Given the description of an element on the screen output the (x, y) to click on. 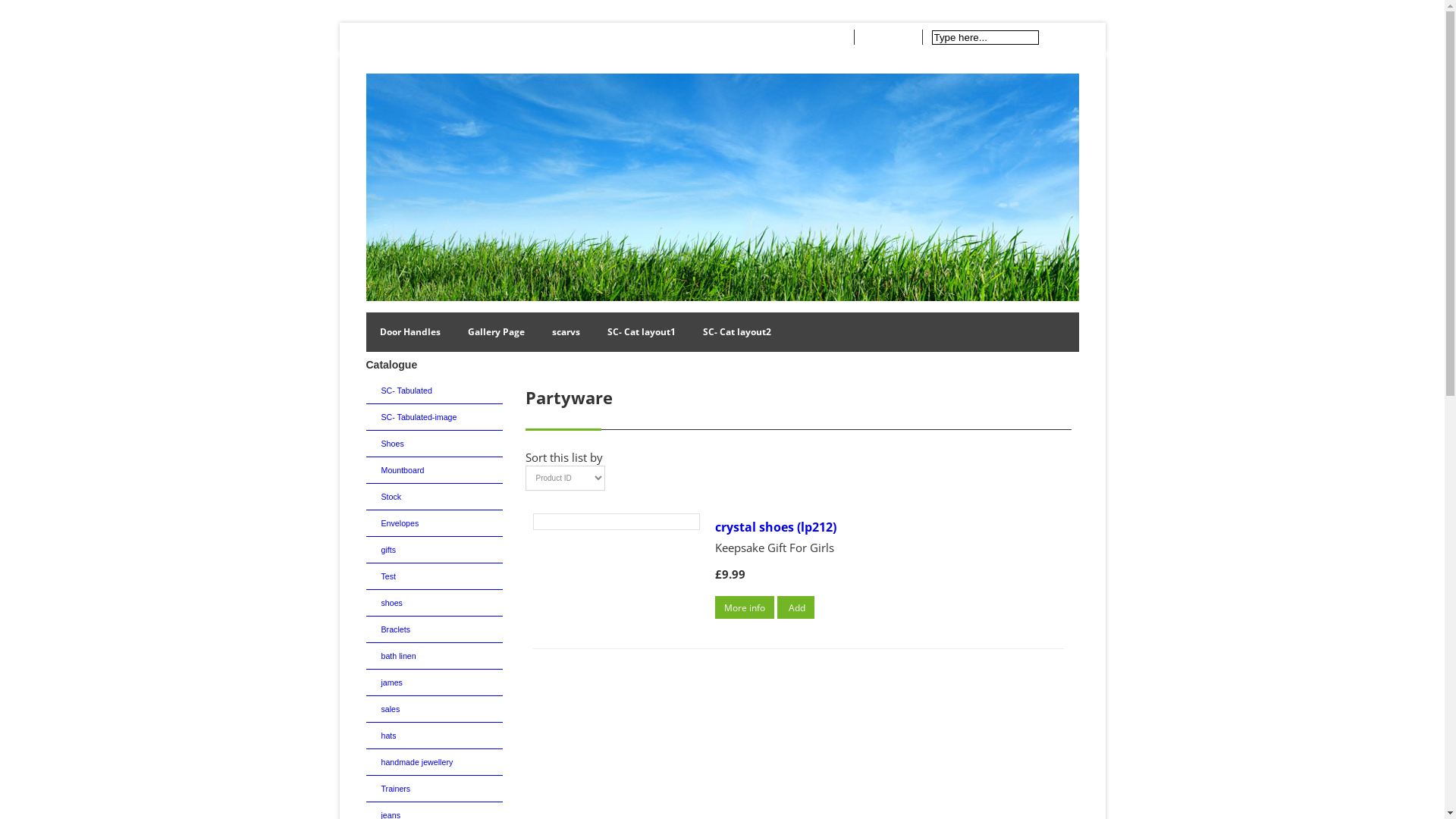
Search Element type: text (1059, 36)
Door Handles Element type: text (409, 331)
Contact Element type: text (433, 36)
0800 034 00 11 ext 221 Element type: text (520, 36)
james Element type: text (433, 682)
gifts Element type: text (433, 549)
shoes Element type: text (433, 602)
Mountboard Element type: text (433, 470)
Test Element type: text (433, 576)
crystal shoes (lp212) Element type: text (774, 526)
Gallery Page Element type: text (495, 331)
sales Element type: text (433, 709)
Home Element type: text (382, 36)
scarvs Element type: text (565, 331)
handmade jewellery Element type: text (433, 762)
Braclets Element type: text (433, 629)
Checkout Element type: text (888, 36)
Shoes Element type: text (433, 443)
SC- Tabulated Element type: text (433, 390)
SC- Cat layout1 Element type: text (640, 331)
SC- Tabulated-image Element type: text (433, 417)
View Element type: text (830, 36)
SC- Cat layout2 Element type: text (736, 331)
hats Element type: text (433, 735)
Envelopes Element type: text (433, 523)
More info Element type: text (743, 607)
bath linen Element type: text (433, 656)
 Add Element type: text (794, 607)
Stock Element type: text (433, 496)
Type here... Element type: text (984, 37)
Trainers Element type: text (433, 788)
